Given the description of an element on the screen output the (x, y) to click on. 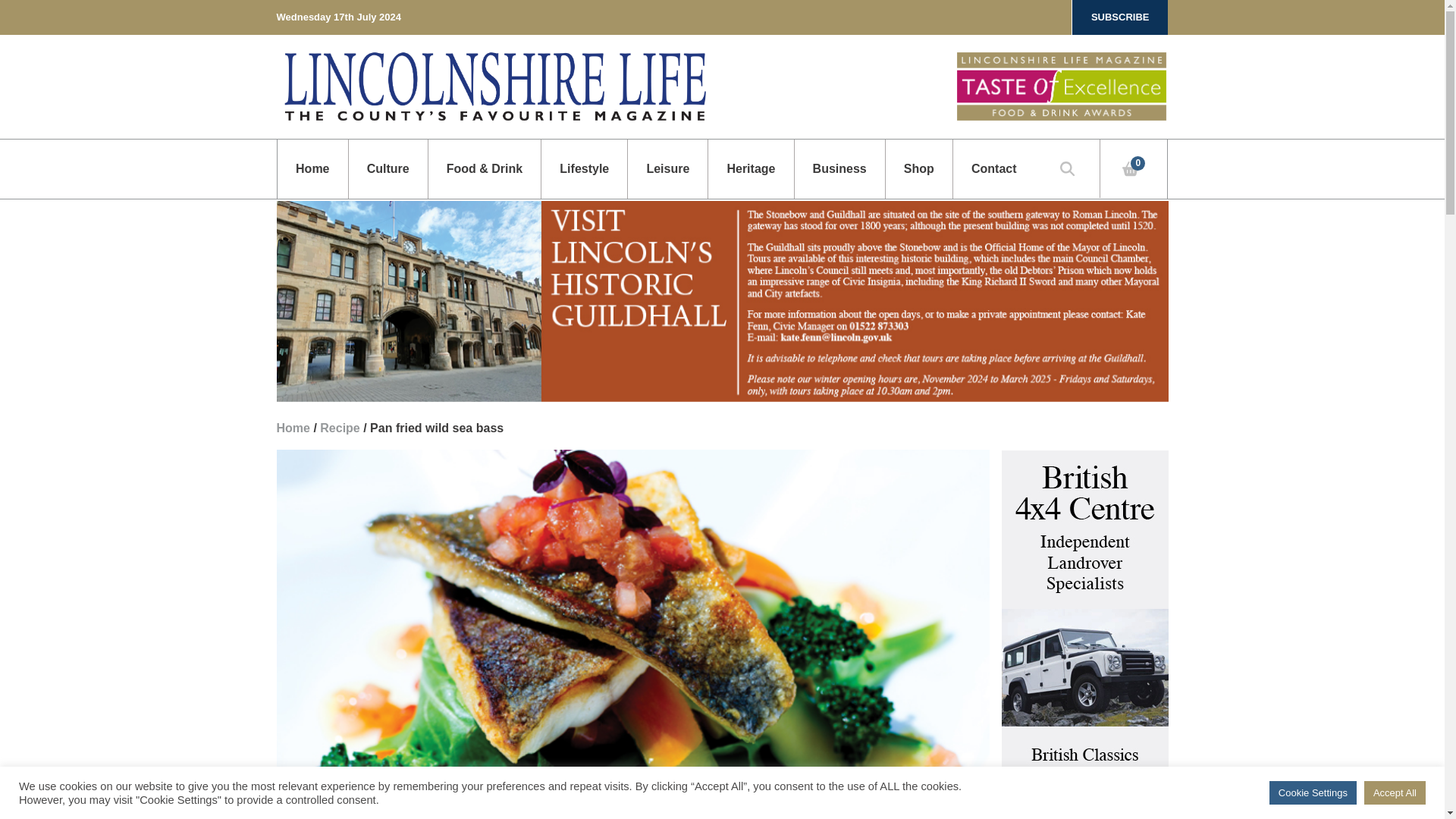
SUBSCRIBE (1120, 17)
Lincolnshire Life (494, 85)
Home (311, 169)
Business (838, 169)
Culture (386, 169)
Lifestyle (584, 169)
Heritage (750, 169)
Contact (992, 169)
Leisure (667, 169)
Shop (917, 169)
